Given the description of an element on the screen output the (x, y) to click on. 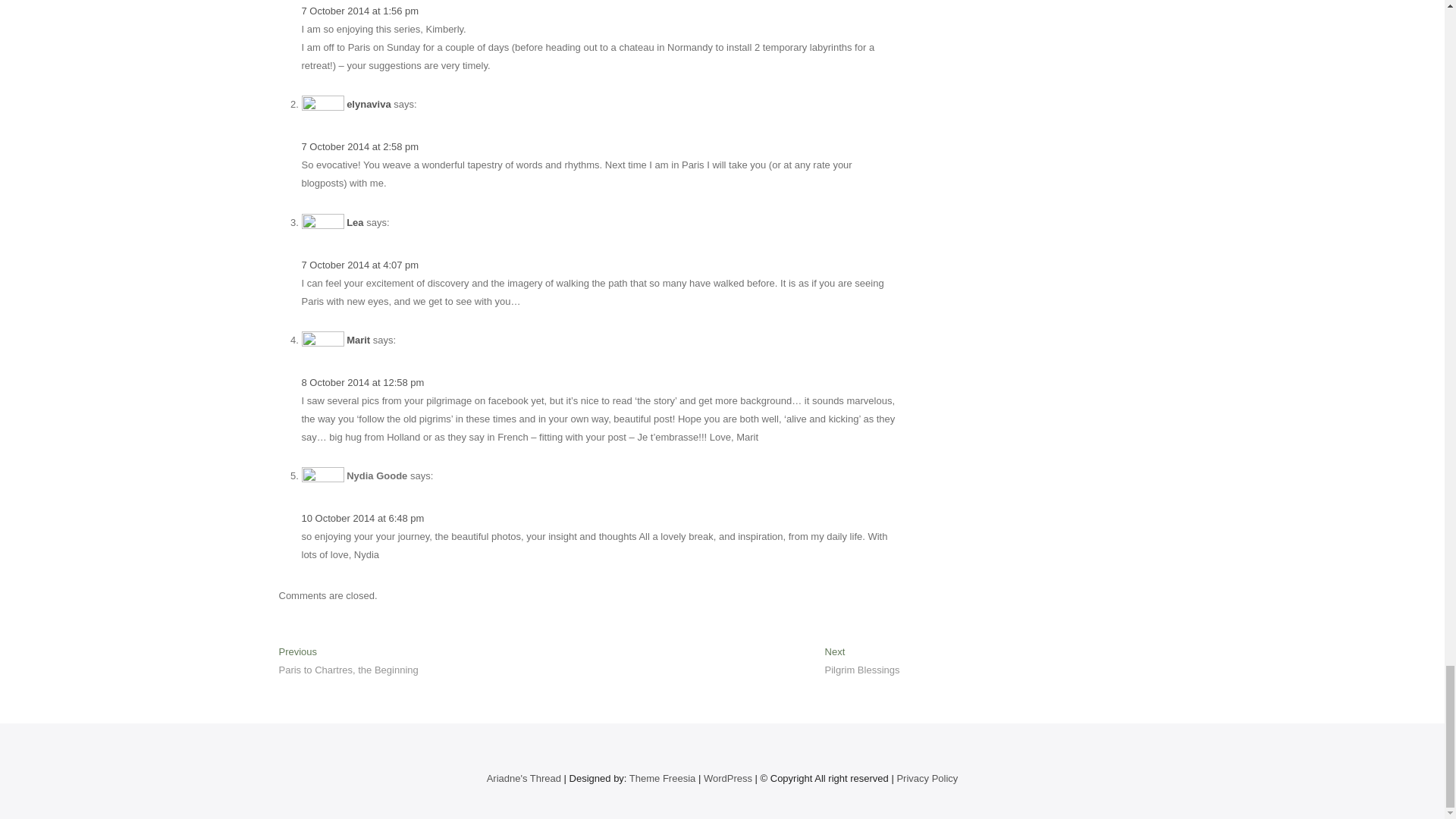
Marit (357, 339)
Ariadne's Thread (523, 778)
elynaviva (368, 103)
8 October 2014 at 12:58 pm (363, 382)
10 October 2014 at 6:48 pm (862, 662)
Lea (363, 518)
7 October 2014 at 1:56 pm (354, 222)
WordPress (360, 10)
Theme Freesia (727, 778)
7 October 2014 at 4:07 pm (661, 778)
7 October 2014 at 2:58 pm (349, 662)
Privacy Policy (360, 265)
